Given the description of an element on the screen output the (x, y) to click on. 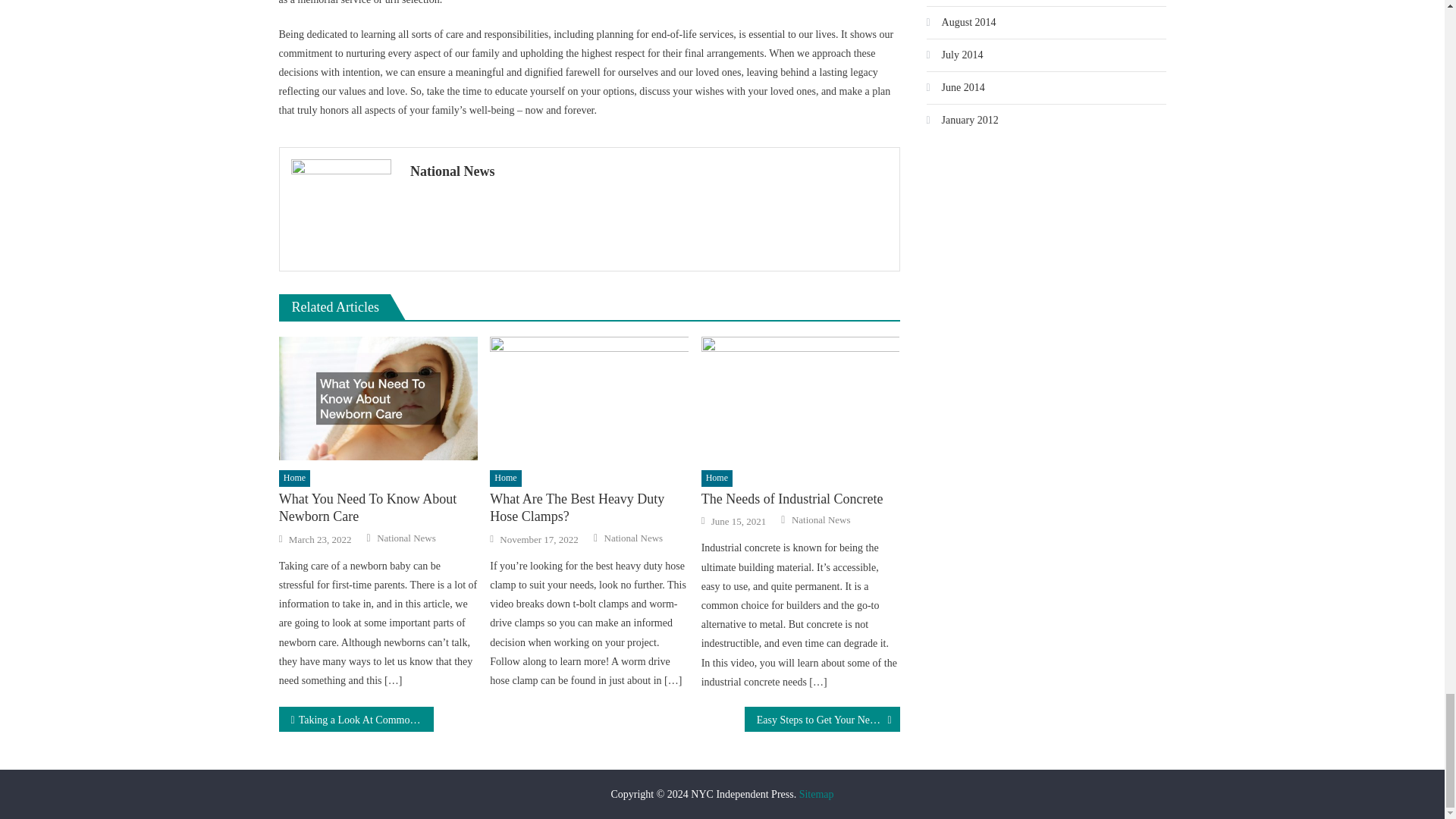
Home (294, 478)
March 23, 2022 (320, 540)
National News (406, 538)
Home (505, 478)
The Needs of Industrial Concrete (800, 398)
What You Need To Know About Newborn Care (378, 398)
National News (633, 538)
What Are The Best Heavy Duty Hose Clamps? (588, 398)
National News (649, 170)
Home (716, 478)
What You Need To Know About Newborn Care (378, 508)
What Are The Best Heavy Duty Hose Clamps? (588, 508)
November 17, 2022 (538, 540)
